Given the description of an element on the screen output the (x, y) to click on. 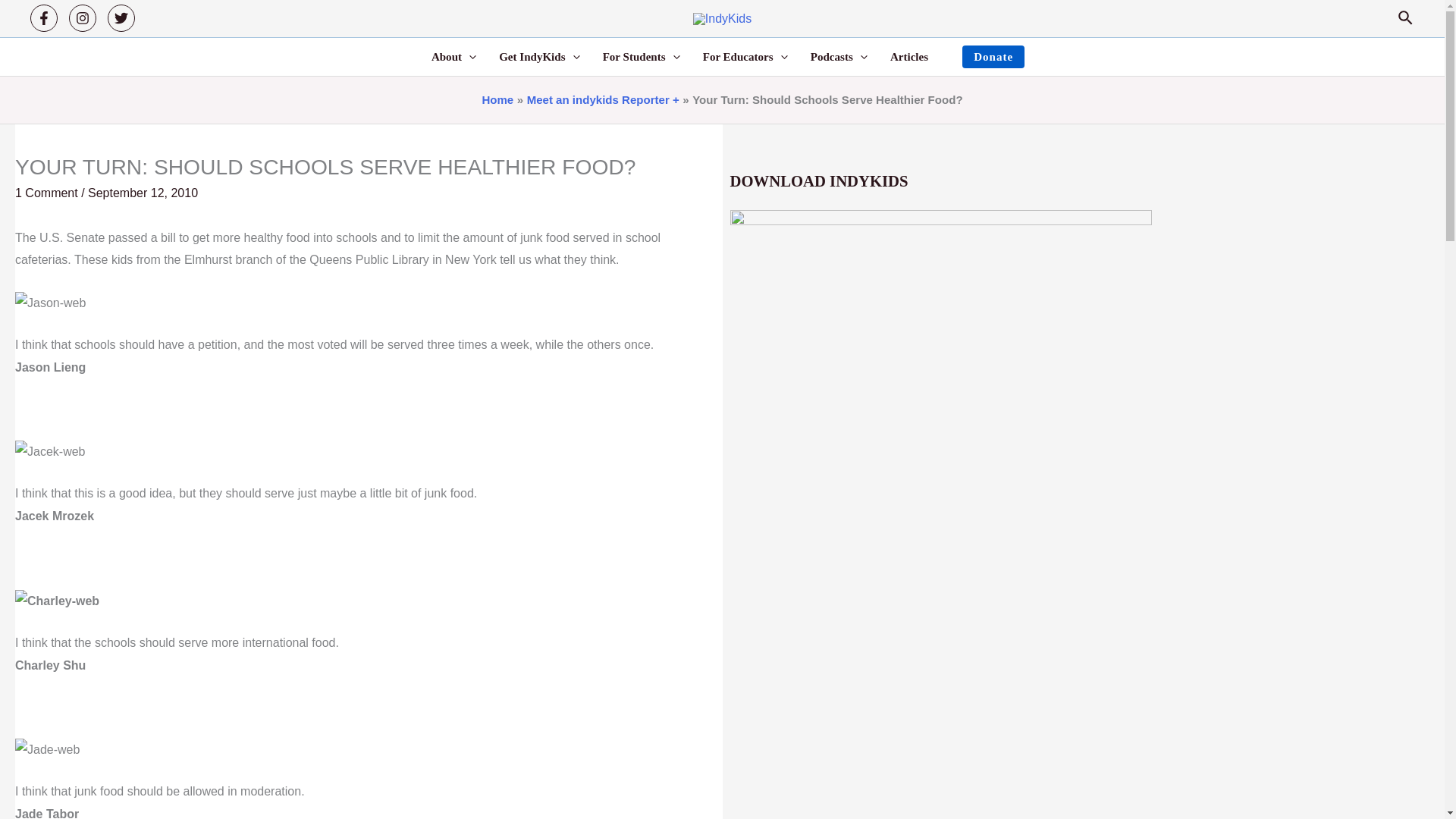
1 Comment (46, 192)
Jason-web (49, 302)
Jacek-web (49, 451)
Get IndyKids (539, 56)
Articles (909, 56)
Donate (993, 56)
Podcasts (839, 56)
Charley-web (56, 600)
For Educators (745, 56)
For Students (641, 56)
